Given the description of an element on the screen output the (x, y) to click on. 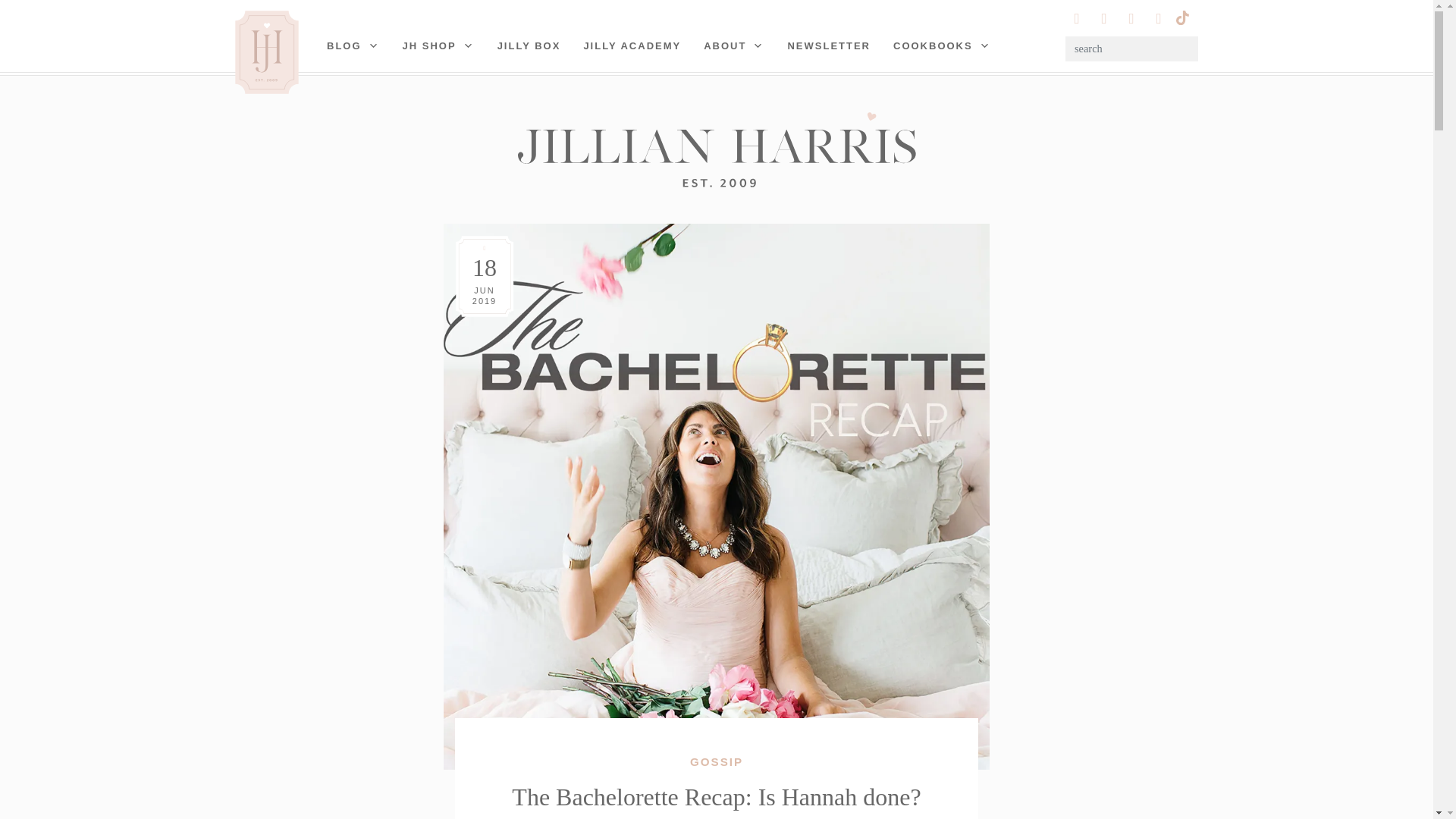
Visit our youtube account (1130, 18)
BLOG (353, 46)
Jillian Harris Design Inc. (716, 149)
Visit our tiktok account (1181, 15)
Visit our facebook account (1158, 18)
Visit our instagram account (1076, 18)
Visit our pinterest account (1104, 18)
